Given the description of an element on the screen output the (x, y) to click on. 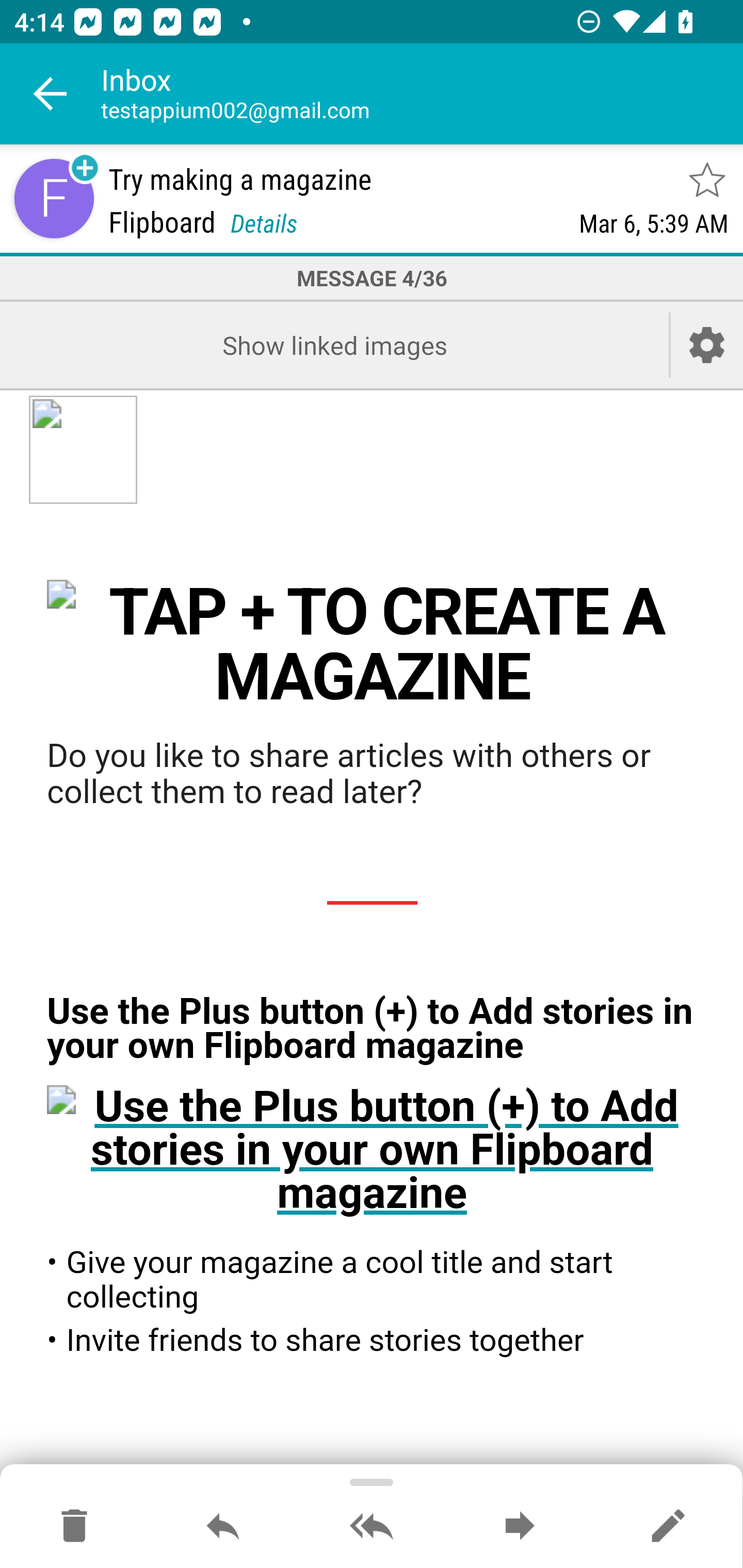
Navigate up (50, 93)
Inbox testappium002@gmail.com (422, 93)
Sender contact button (53, 198)
Show linked images (334, 344)
Account setup (706, 344)
Move to Deleted (74, 1527)
Reply (222, 1527)
Reply all (371, 1527)
Forward (519, 1527)
Reply as new (667, 1527)
